Given the description of an element on the screen output the (x, y) to click on. 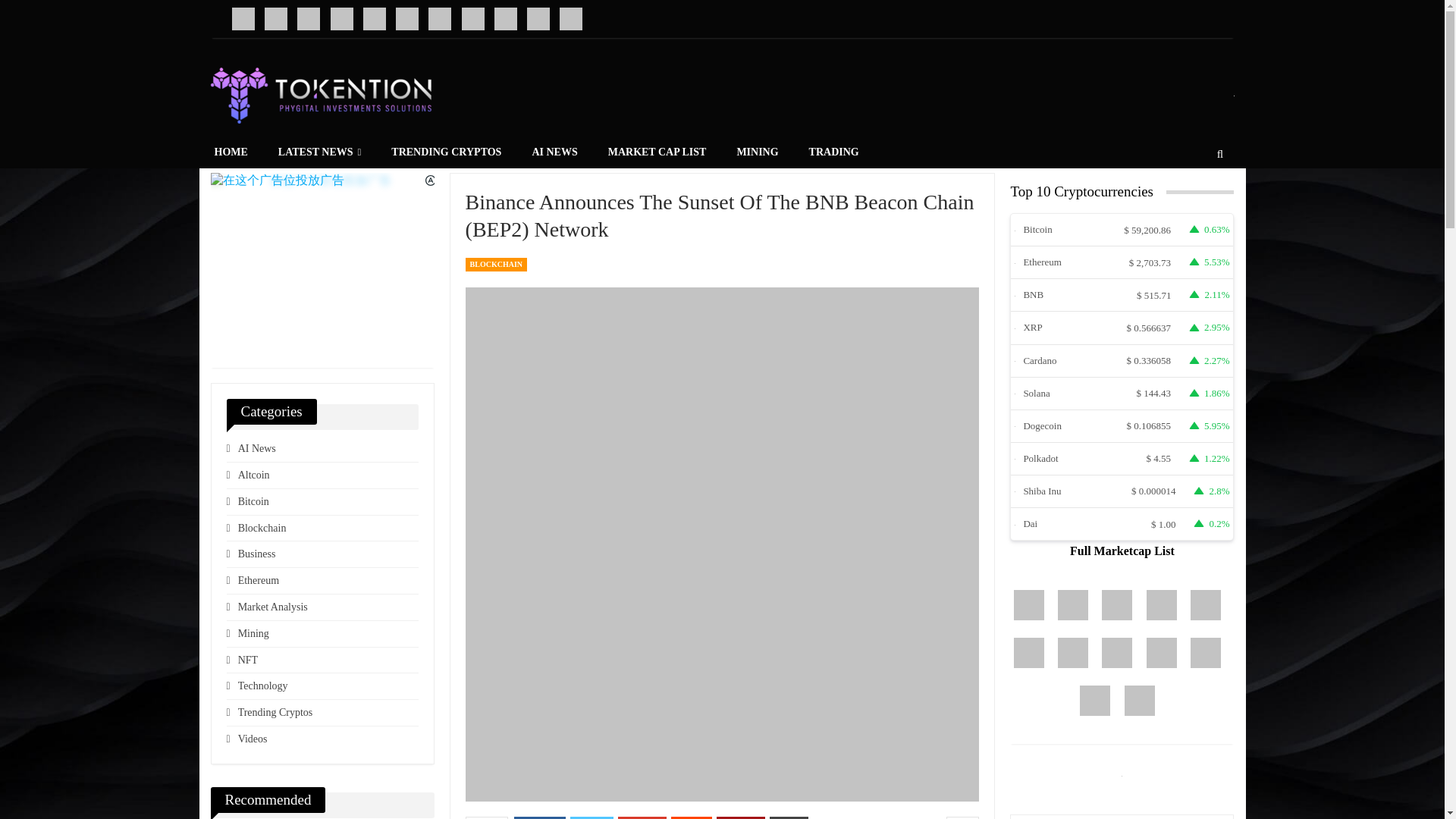
HOME (230, 152)
AI NEWS (554, 152)
TRENDING CRYPTOS (445, 152)
LATEST NEWS (319, 152)
